Given the description of an element on the screen output the (x, y) to click on. 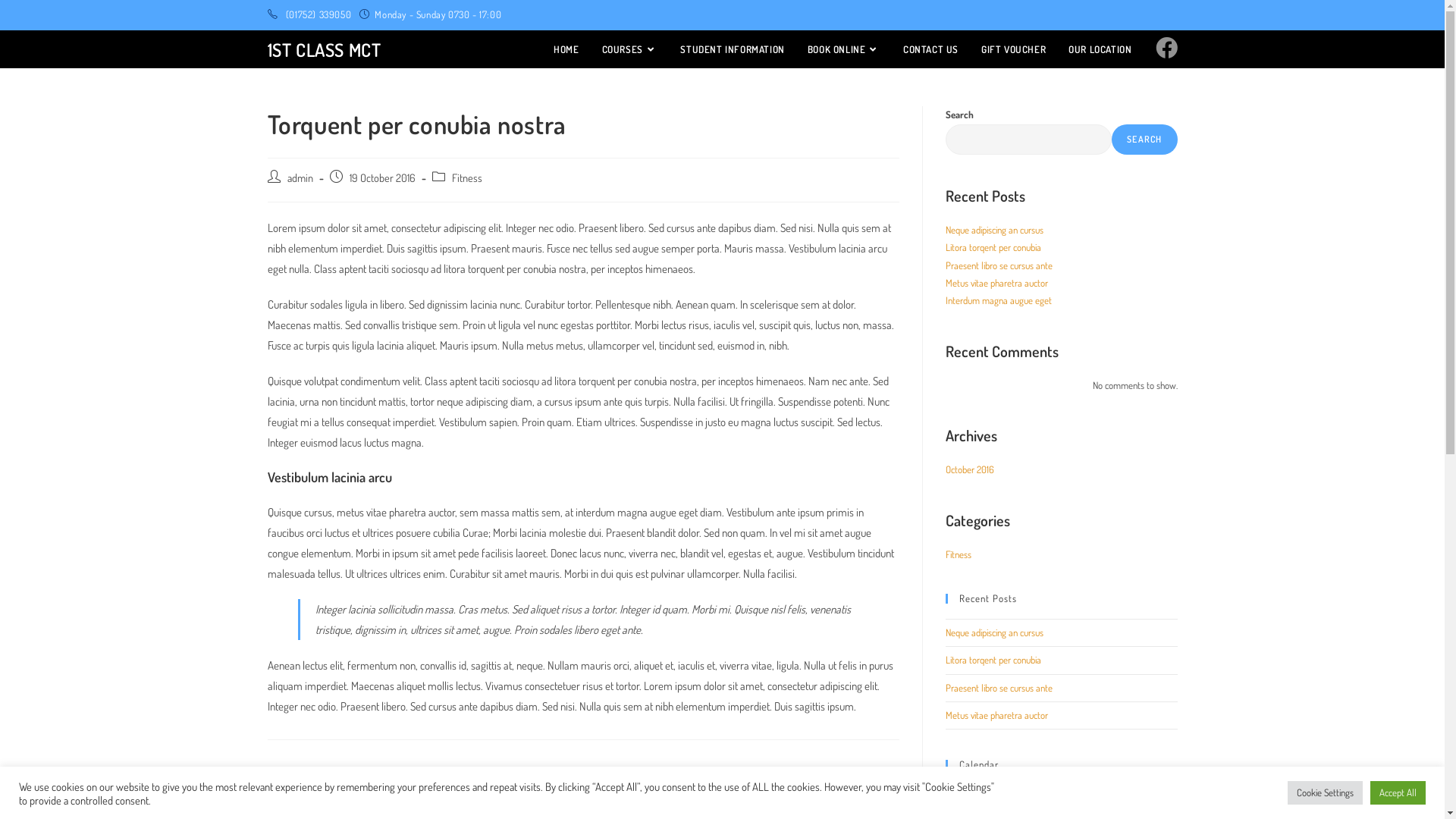
Praesent libro se cursus ante Element type: text (997, 265)
BOOK ONLINE Element type: text (843, 49)
1ST CLASS MCT Element type: text (323, 49)
Praesent libro se cursus ante Element type: text (997, 687)
Accept All Element type: text (1397, 792)
Litora torqent per conubia Element type: text (992, 247)
HOME Element type: text (565, 49)
Neque adipiscing an cursus Element type: text (993, 229)
Metus vitae pharetra auctor Element type: text (995, 715)
October 2016 Element type: text (968, 469)
admin Element type: text (299, 177)
Metus vitae pharetra auctor Element type: text (995, 282)
CONTACT US Element type: text (930, 49)
Fitness Element type: text (466, 177)
Neque adipiscing an cursus Element type: text (993, 632)
SEARCH Element type: text (1143, 139)
Litora torqent per conubia Element type: text (992, 659)
Interdum magna augue eget Element type: text (997, 300)
Cookie Settings Element type: text (1324, 792)
STUDENT INFORMATION Element type: text (731, 49)
GIFT VOUCHER Element type: text (1013, 49)
Fitness Element type: text (957, 554)
COURSES Element type: text (629, 49)
OUR LOCATION Element type: text (1099, 49)
